Given the description of an element on the screen output the (x, y) to click on. 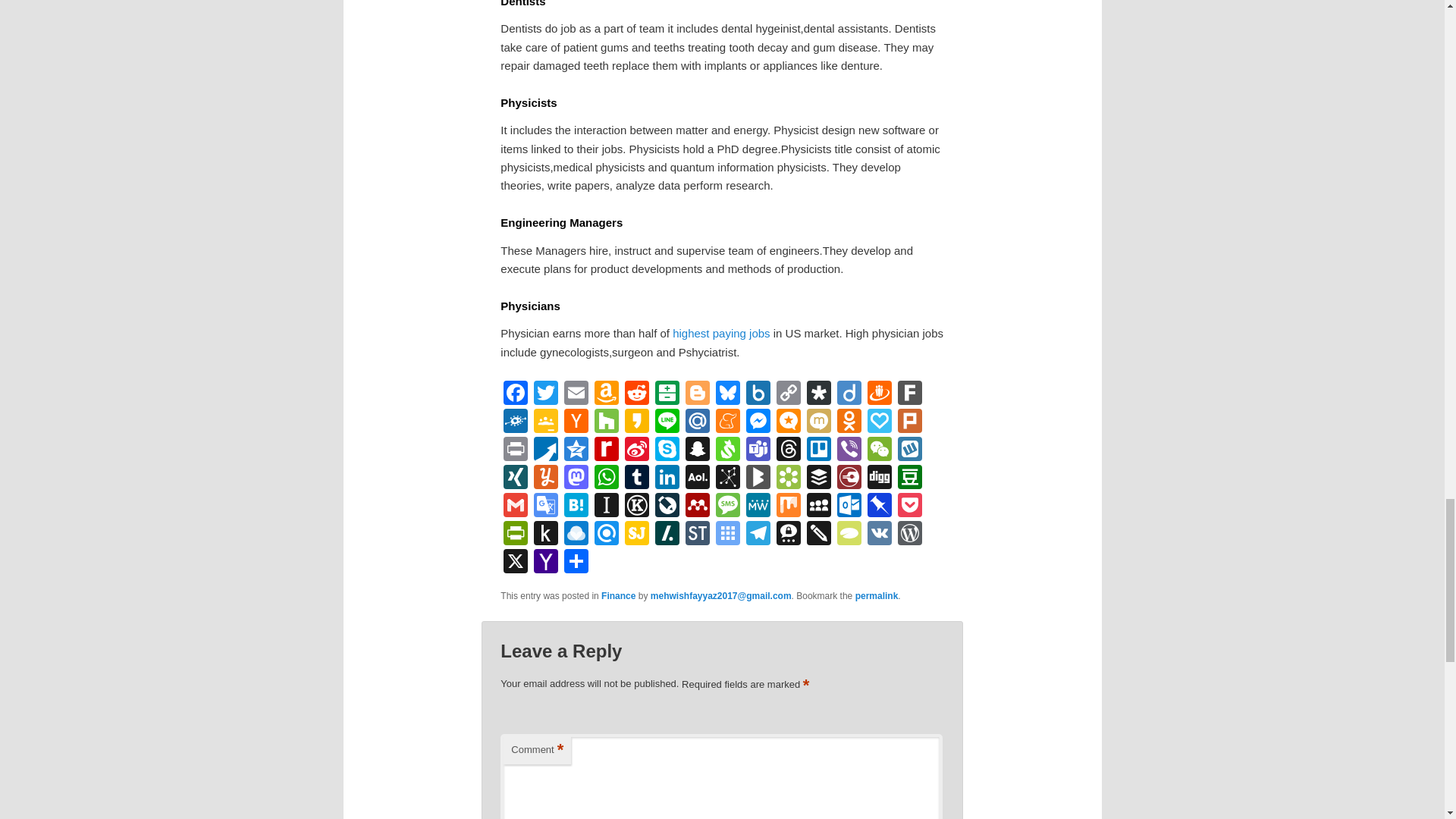
Email (575, 394)
Amazon Wish List (606, 394)
Facebook (515, 394)
Twitter (545, 394)
